Given the description of an element on the screen output the (x, y) to click on. 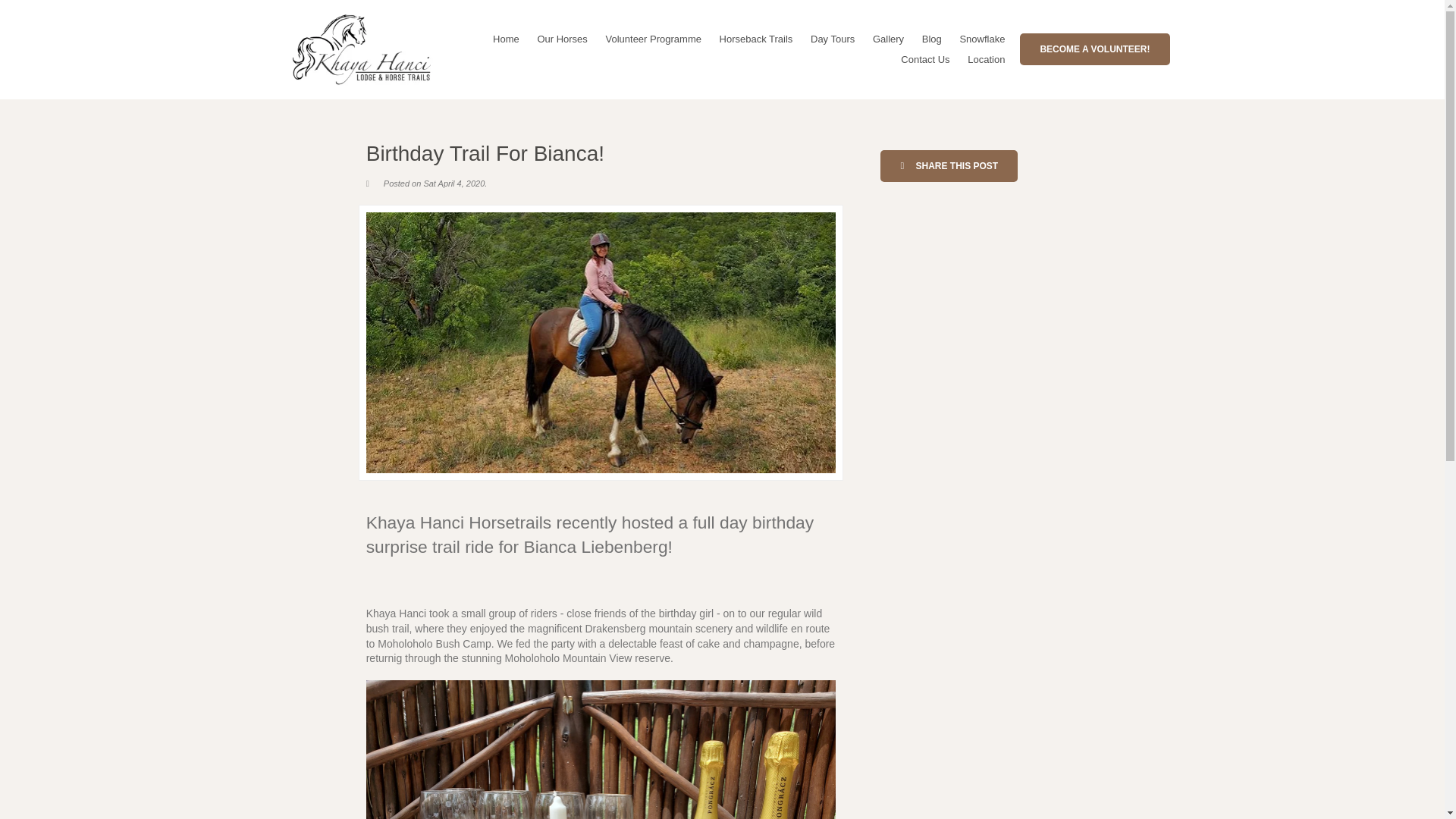
Khaya Hanci Horse and Game Ranch (360, 48)
